Given the description of an element on the screen output the (x, y) to click on. 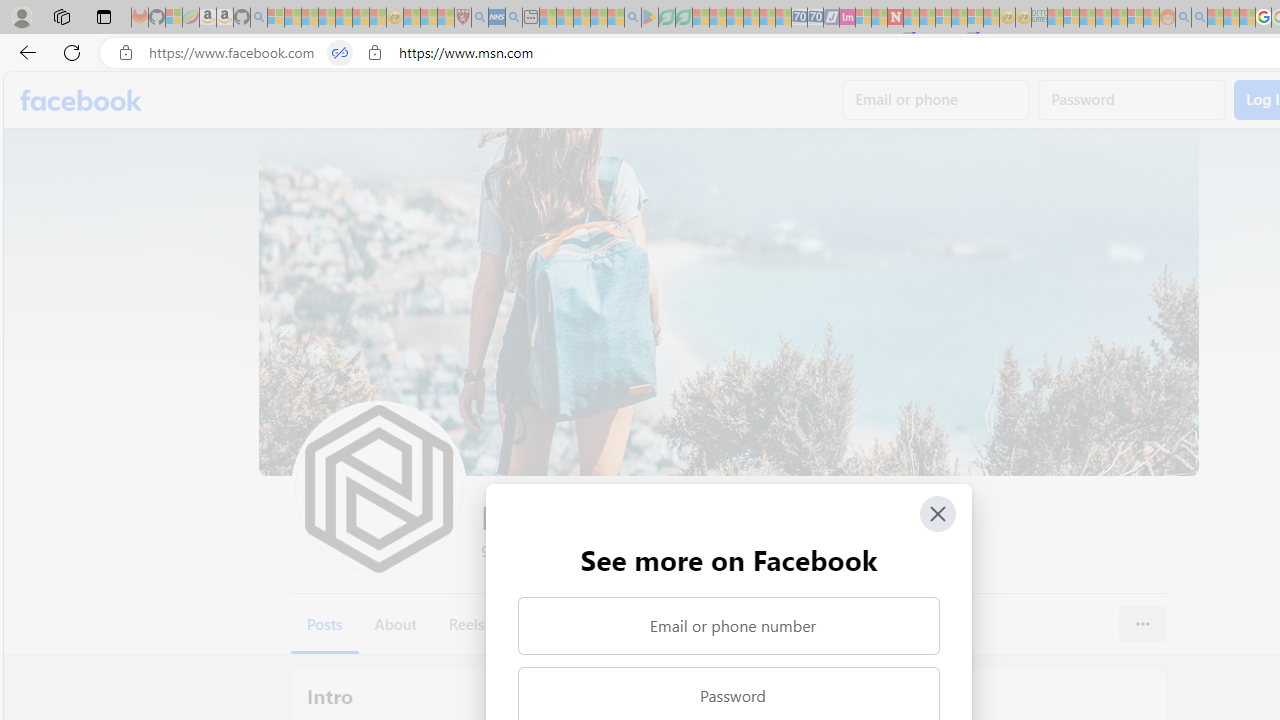
Facebook (81, 99)
Tabs in split screen (339, 53)
Password (1132, 99)
utah sues federal government - Search - Sleeping (513, 17)
